Given the description of an element on the screen output the (x, y) to click on. 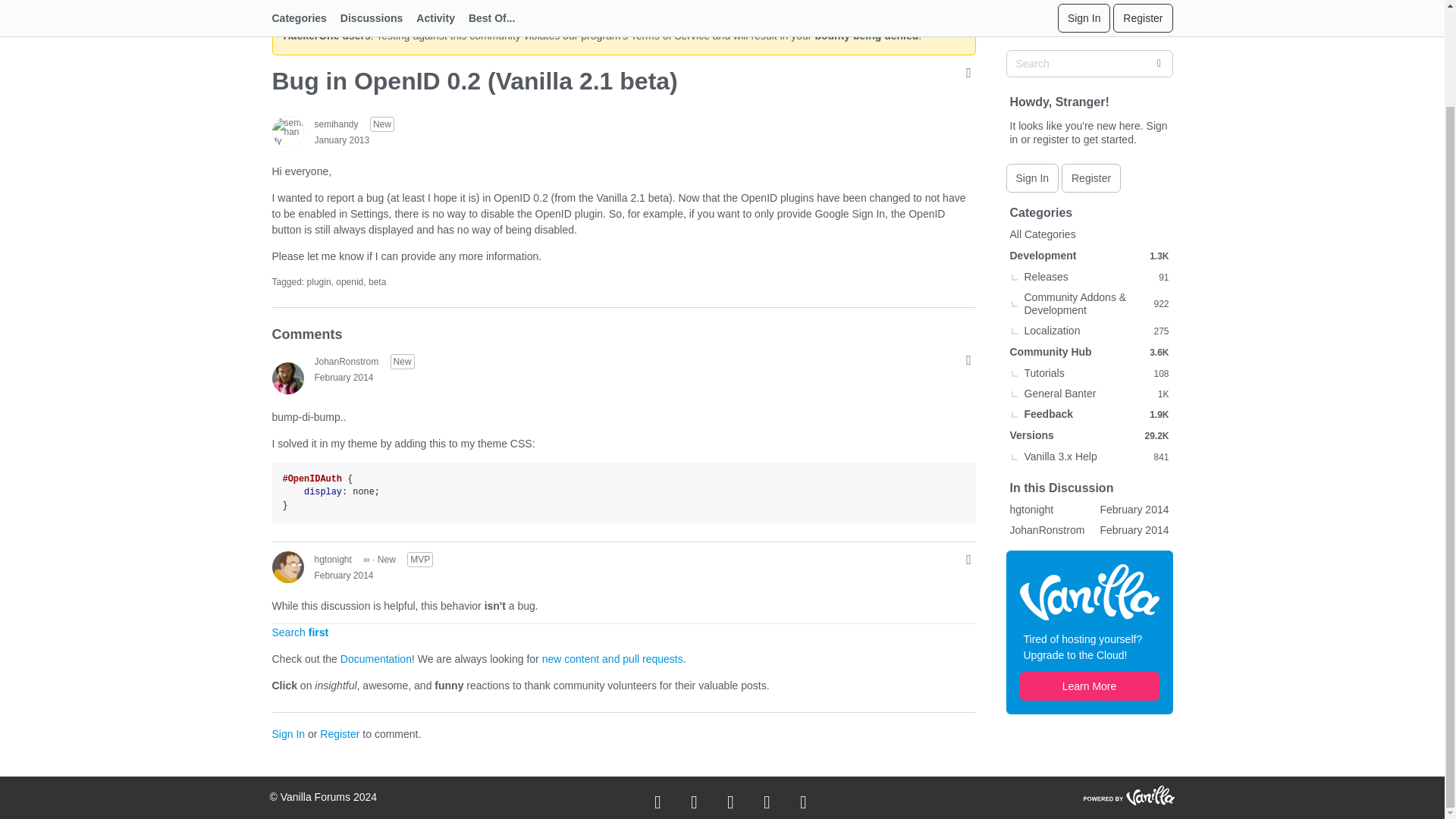
February 2014 (343, 575)
semihandy (286, 132)
Vanilla (1088, 557)
1,289 discussions (1159, 223)
HOME (284, 2)
New (381, 124)
JohanRonstrom (286, 377)
semihandy (336, 124)
beta (376, 281)
February 6, 2014 5:14PM (343, 575)
Go (1158, 30)
January 25, 2013 3:12PM (341, 140)
922 discussions (1161, 270)
openid (349, 281)
New (402, 361)
